Given the description of an element on the screen output the (x, y) to click on. 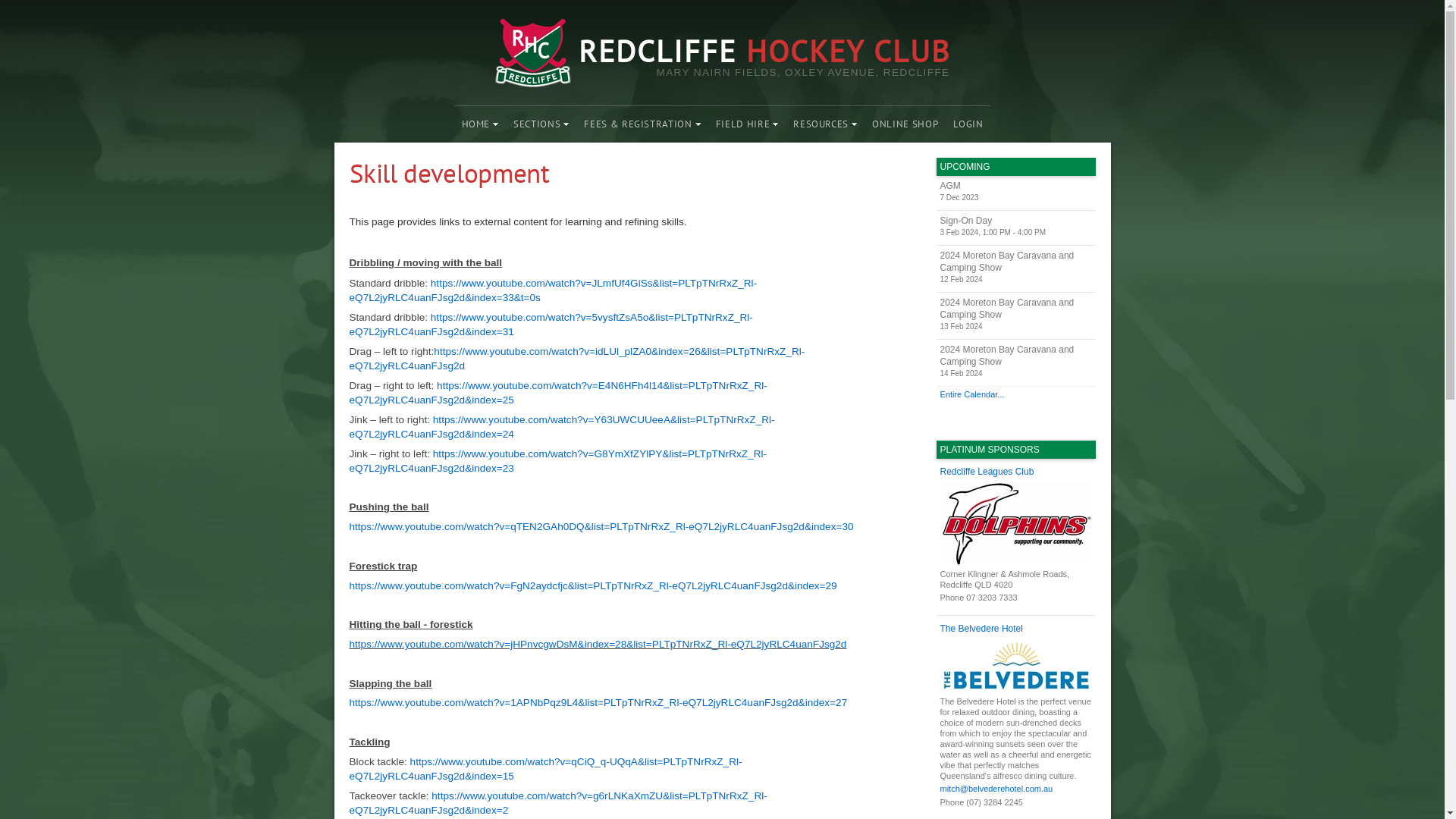
Corner Klingner & Ashmole Roads, Redcliffe QLD 4020 Element type: text (1016, 535)
The Belvedere Hotel Element type: text (1016, 629)
ONLINE SHOP Element type: text (904, 124)
RESOURCES Element type: text (824, 124)
FIELD HIRE Element type: text (747, 124)
LOGIN Element type: text (967, 124)
FEES & REGISTRATION Element type: text (641, 124)
Redcliffe Leagues Club Element type: text (1016, 472)
Entire Calendar... Element type: text (1015, 393)
mitch@belvederehotel.com.au Element type: text (1016, 789)
HOME Element type: text (480, 124)
SECTIONS Element type: text (540, 124)
